Given the description of an element on the screen output the (x, y) to click on. 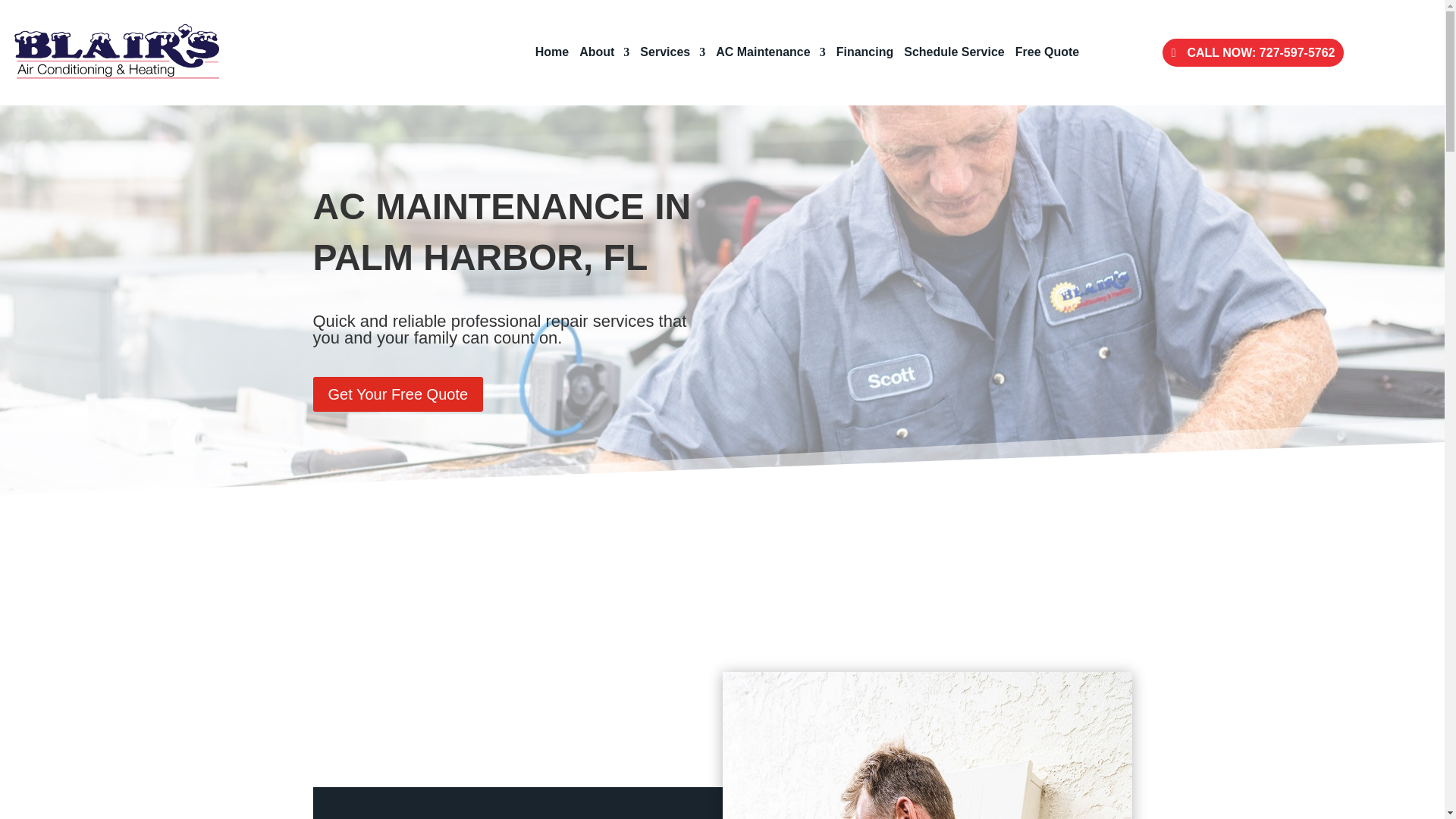
AC Maintenance (770, 52)
Schedule Service (954, 52)
Free Quote (1046, 52)
DSC09597 (926, 745)
Services (672, 52)
Financing (864, 52)
